Given the description of an element on the screen output the (x, y) to click on. 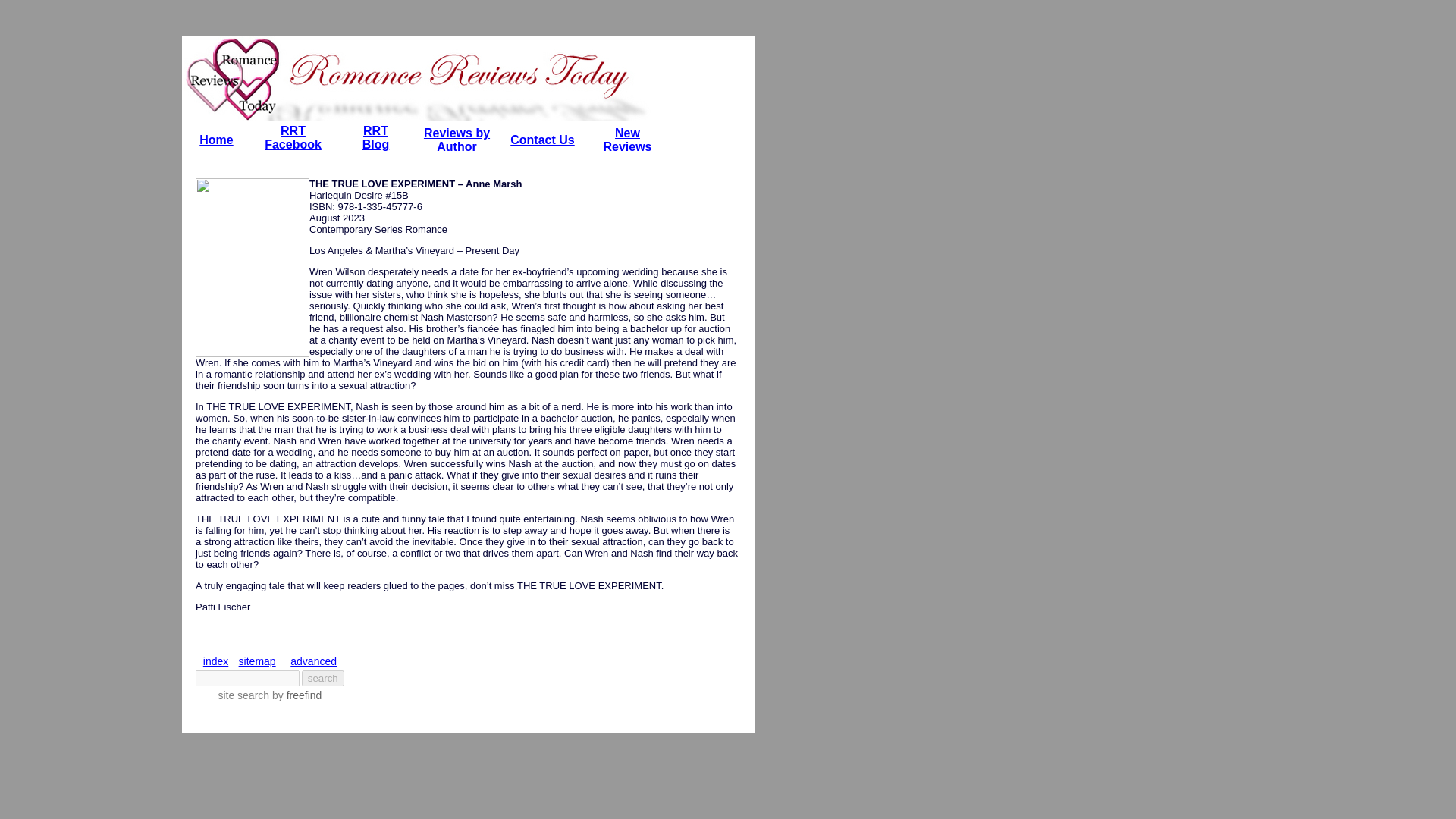
search (322, 678)
Home (215, 139)
index (215, 661)
Contact Us (376, 137)
sitemap (292, 137)
Reviews by Author (542, 139)
advanced (257, 661)
New Reviews (456, 139)
